Given the description of an element on the screen output the (x, y) to click on. 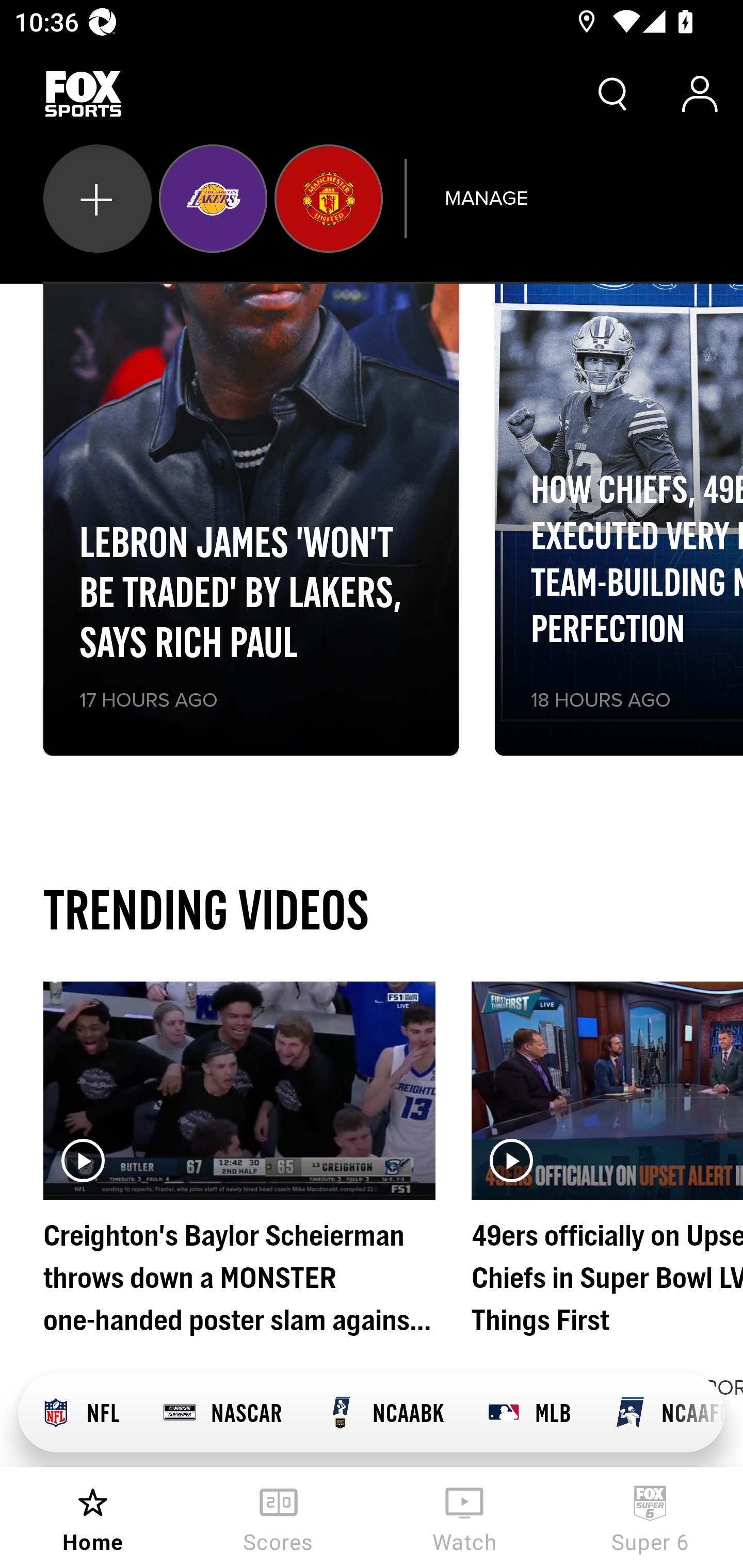
Search (612, 93)
Account (699, 93)
MANAGE (485, 198)
NFL (79, 1412)
NASCAR (222, 1412)
NCAABK (384, 1412)
MLB (528, 1412)
NCAAFB (658, 1412)
Scores (278, 1517)
Watch (464, 1517)
Super 6 (650, 1517)
